Given the description of an element on the screen output the (x, y) to click on. 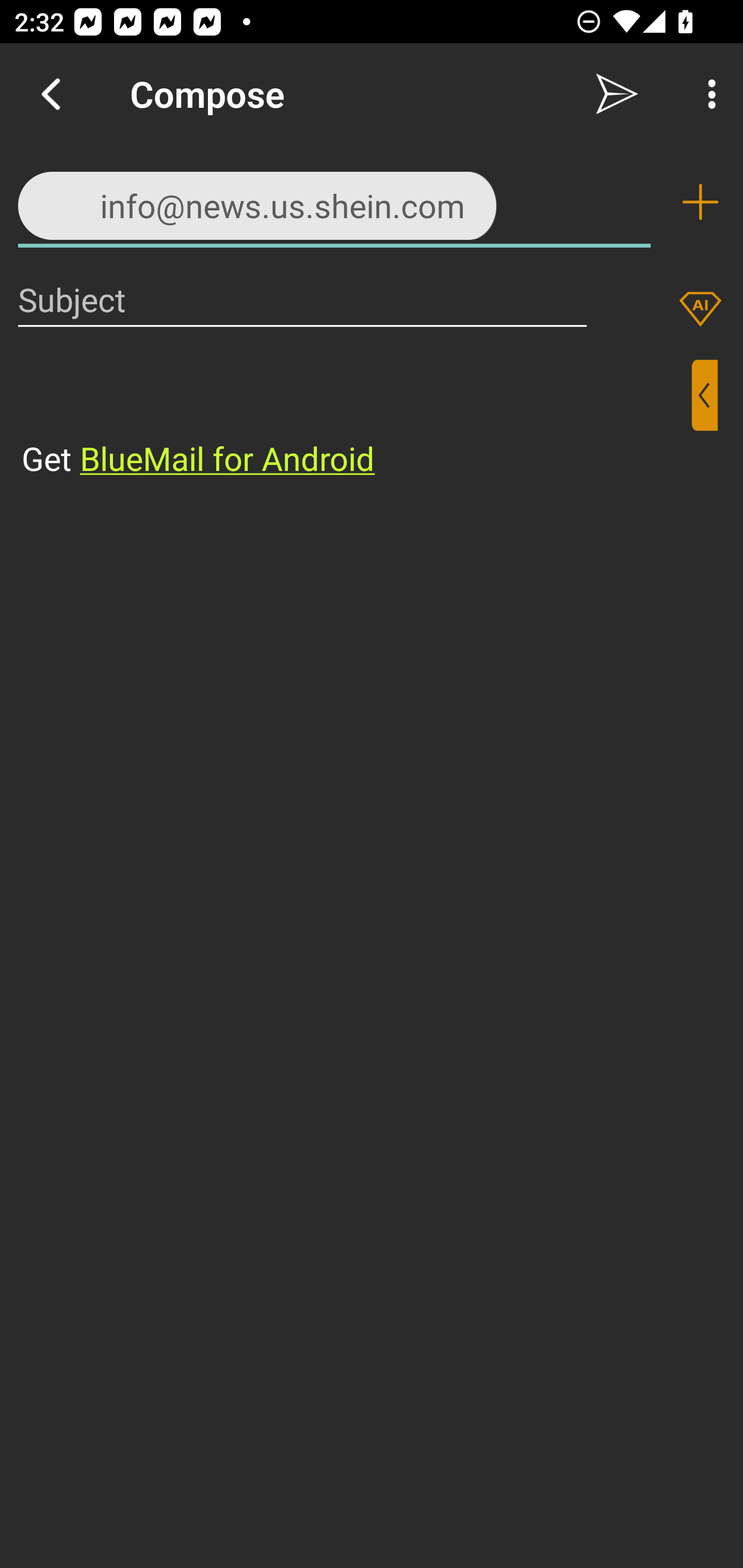
Navigate up (50, 93)
Send (616, 93)
More Options (706, 93)
<info@news.us.shein.com>,  (334, 201)
Add recipient (To) (699, 201)
Subject (302, 299)


⁣Get BlueMail for Android ​ (355, 419)
